Given the description of an element on the screen output the (x, y) to click on. 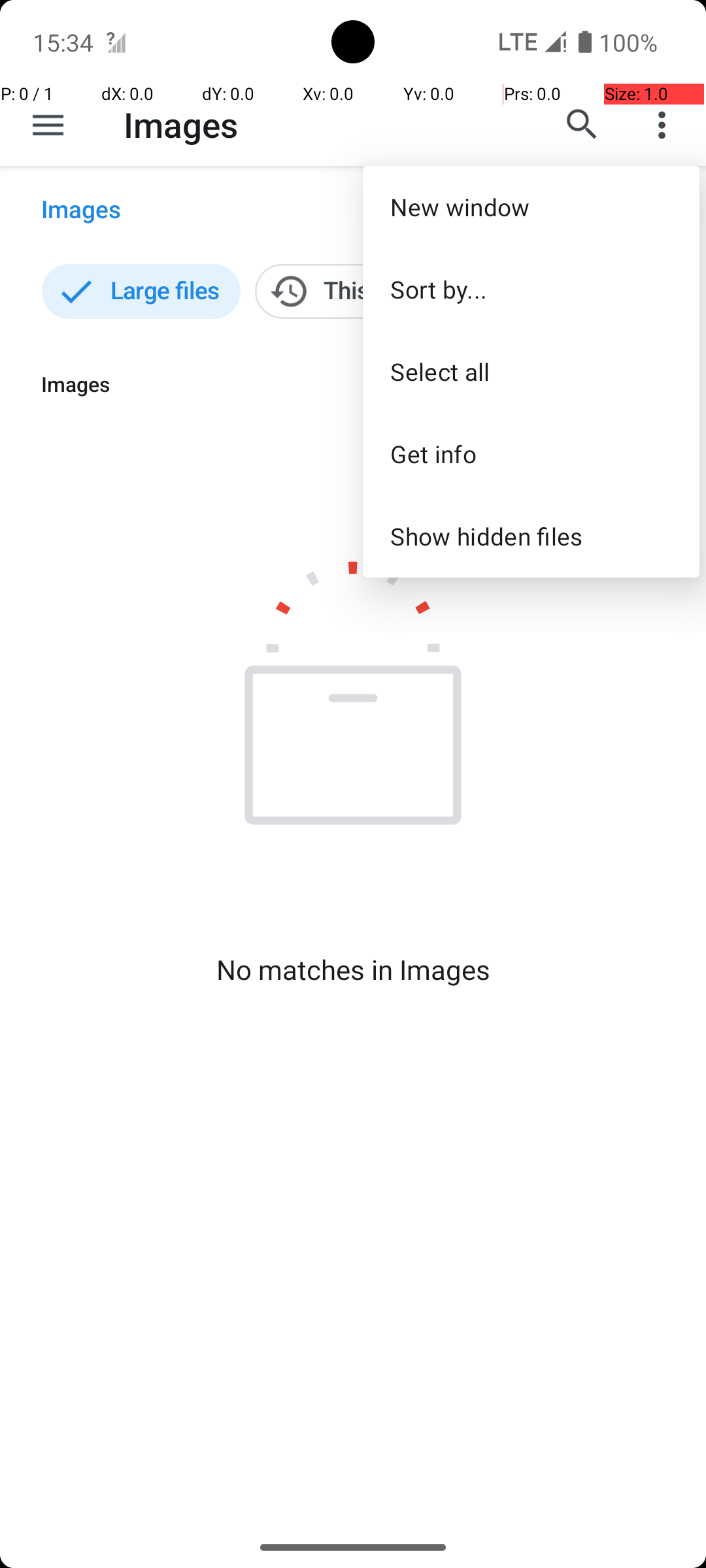
New window Element type: android.widget.TextView (531, 206)
Select all Element type: android.widget.TextView (531, 371)
Get info Element type: android.widget.TextView (531, 453)
